Given the description of an element on the screen output the (x, y) to click on. 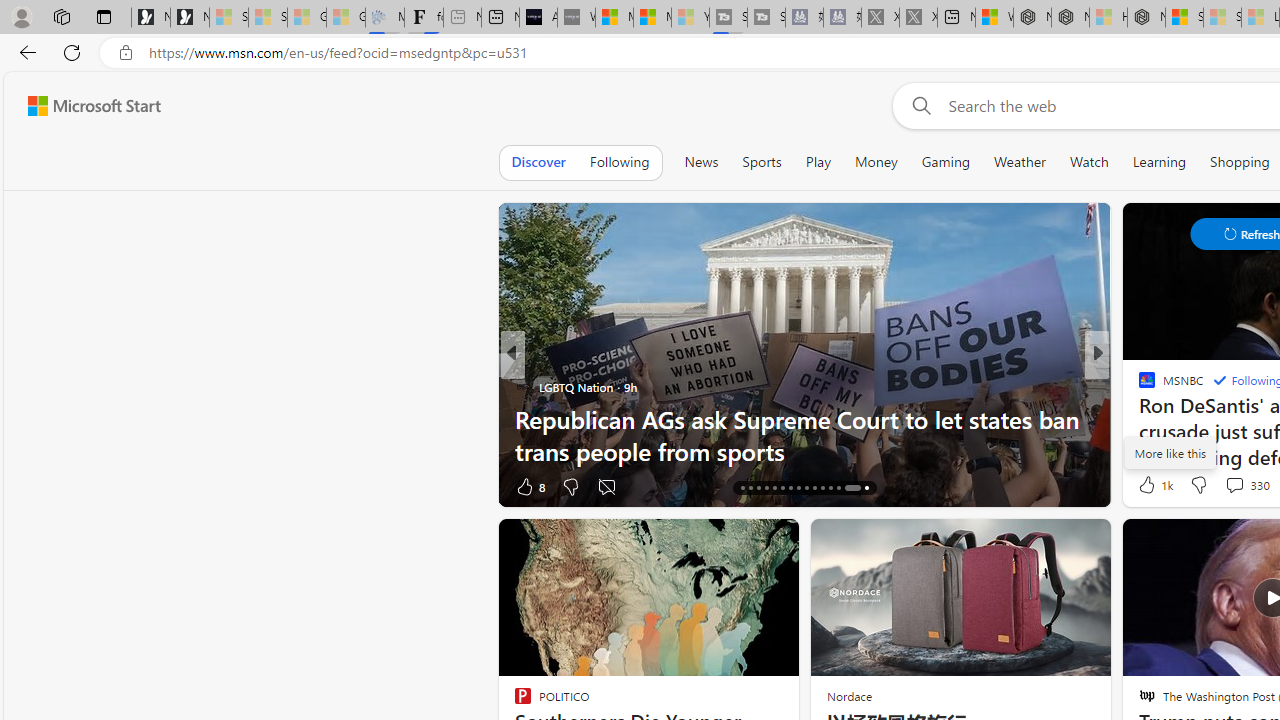
LGBTQ Nation (522, 386)
8 Like (528, 486)
1k Like (1154, 484)
Nordace - Nordace Siena Is Not An Ordinary Backpack (1145, 17)
AutomationID: tab-24 (806, 487)
View comments 39 Comment (11, 485)
Comments turned off for this story (605, 486)
